Given the description of an element on the screen output the (x, y) to click on. 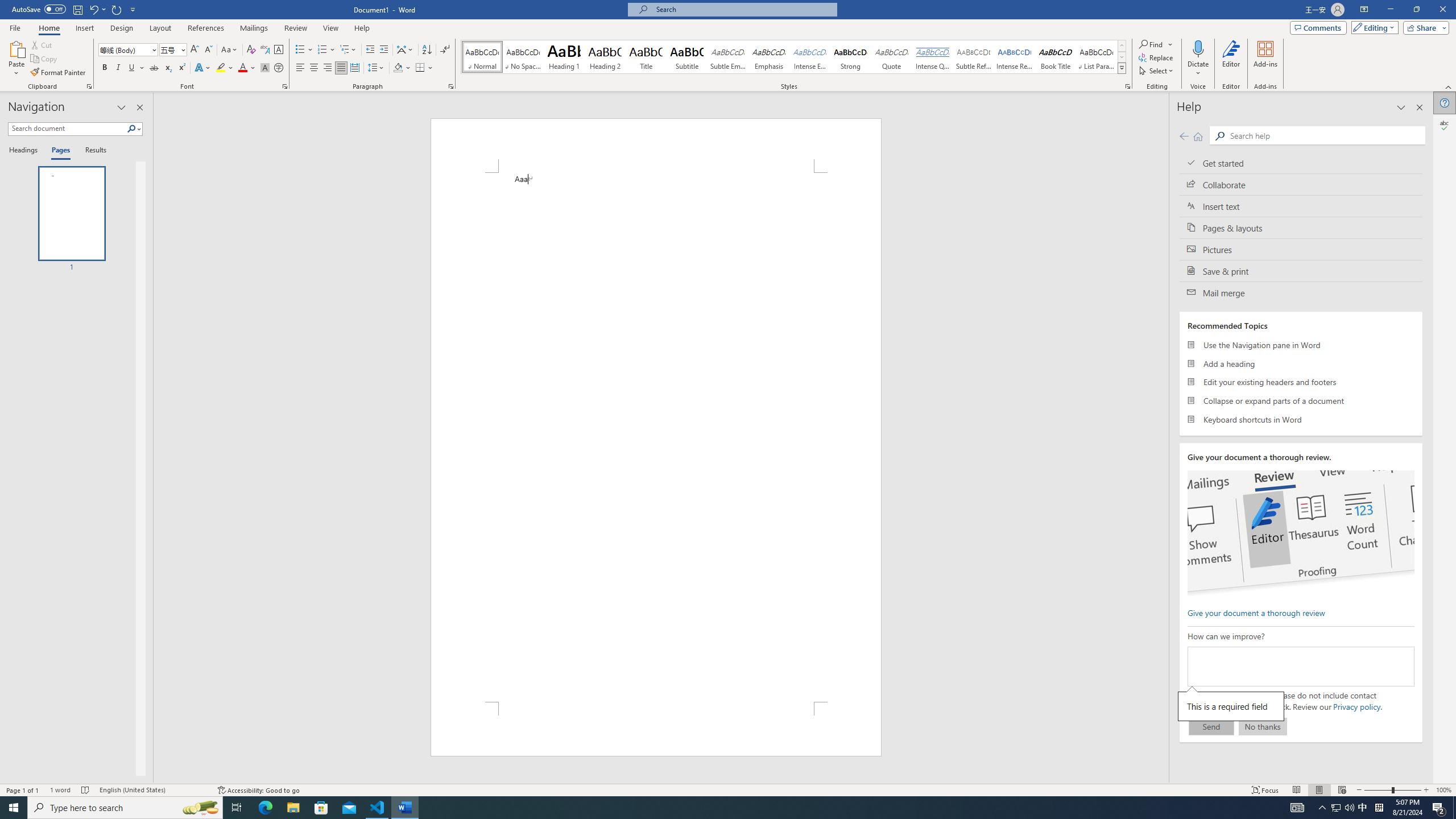
Intense Quote (932, 56)
Page 1 content (655, 436)
